Given the description of an element on the screen output the (x, y) to click on. 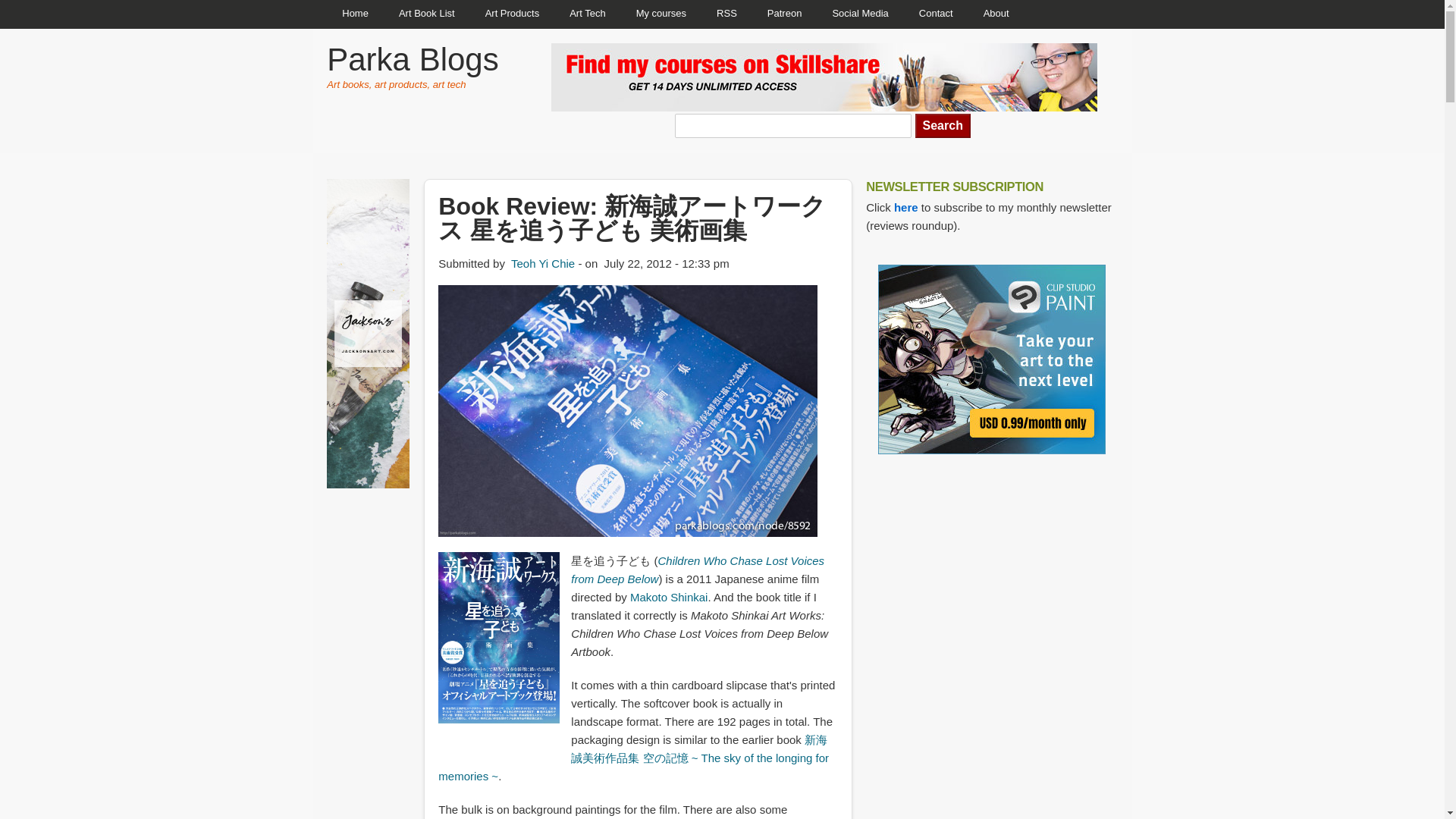
Art Book List (427, 14)
Drawing courses (661, 14)
RSS (726, 14)
About (996, 14)
Social Media (859, 14)
Children Who Chase Lost Voices from Deep Below (697, 569)
Art books from the west (427, 14)
Art products and materials review (512, 14)
Search (943, 125)
My courses (661, 14)
Contact (936, 14)
Search (943, 125)
Art Tech (587, 14)
Makoto Shinkai (668, 596)
Patreon (784, 14)
